Given the description of an element on the screen output the (x, y) to click on. 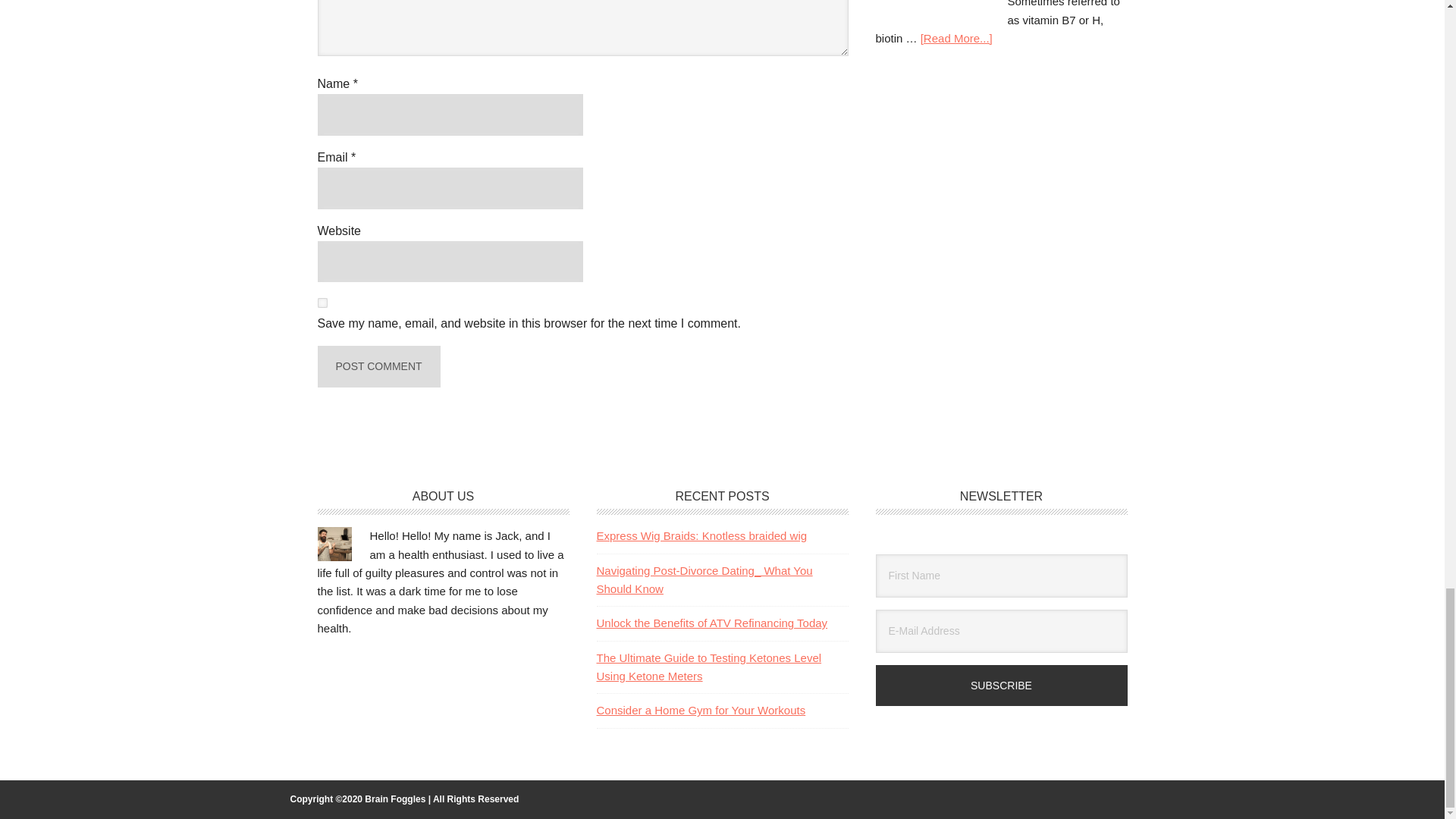
Post Comment (378, 366)
Post Comment (378, 366)
yes (321, 302)
Subscribe (1000, 685)
